Given the description of an element on the screen output the (x, y) to click on. 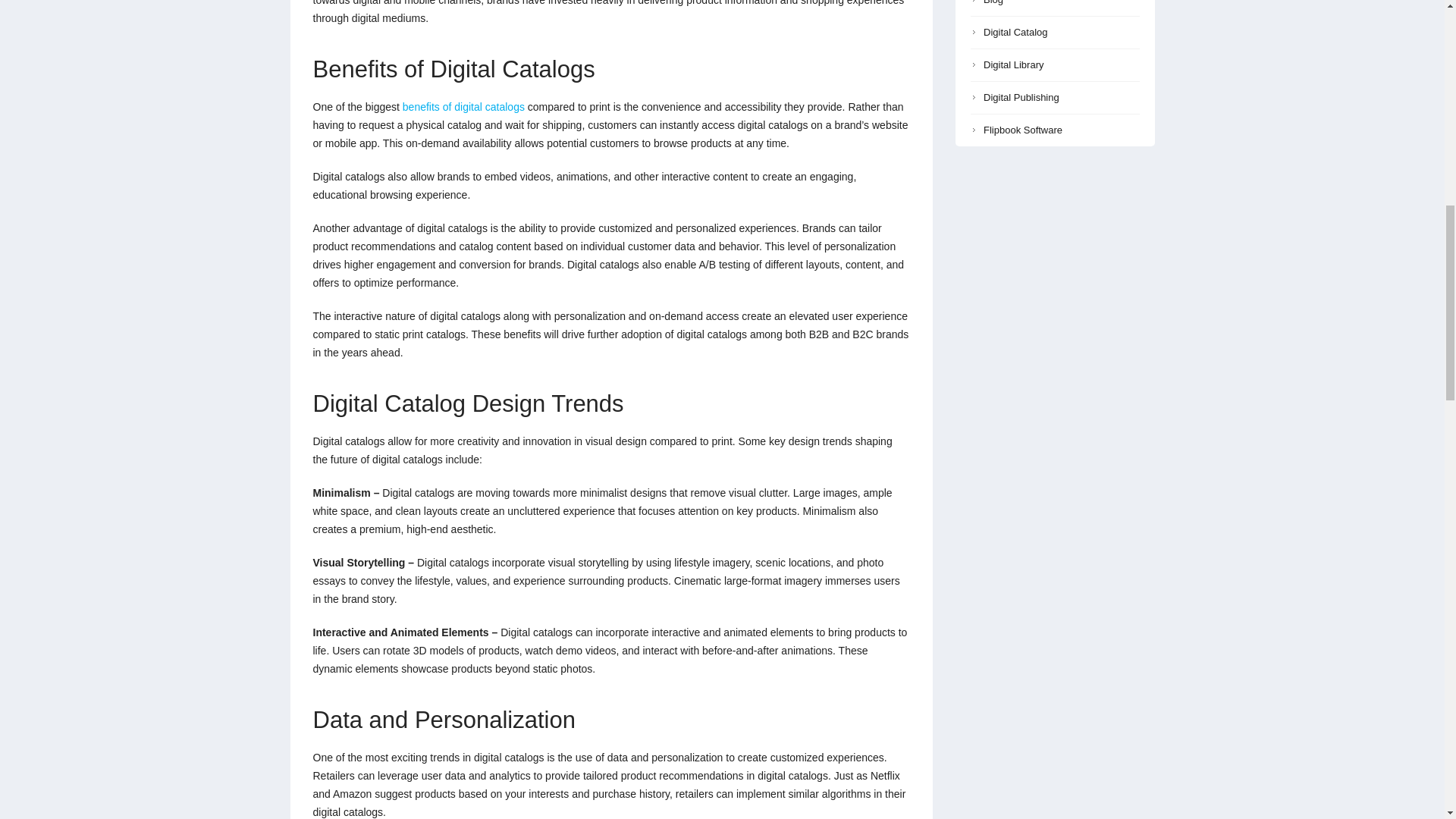
Flipbook Software (1017, 129)
Digital Publishing (1015, 97)
Digital Library (1007, 64)
Digital Catalog (1010, 31)
Blog (987, 2)
benefits of digital catalogs (463, 106)
